Given the description of an element on the screen output the (x, y) to click on. 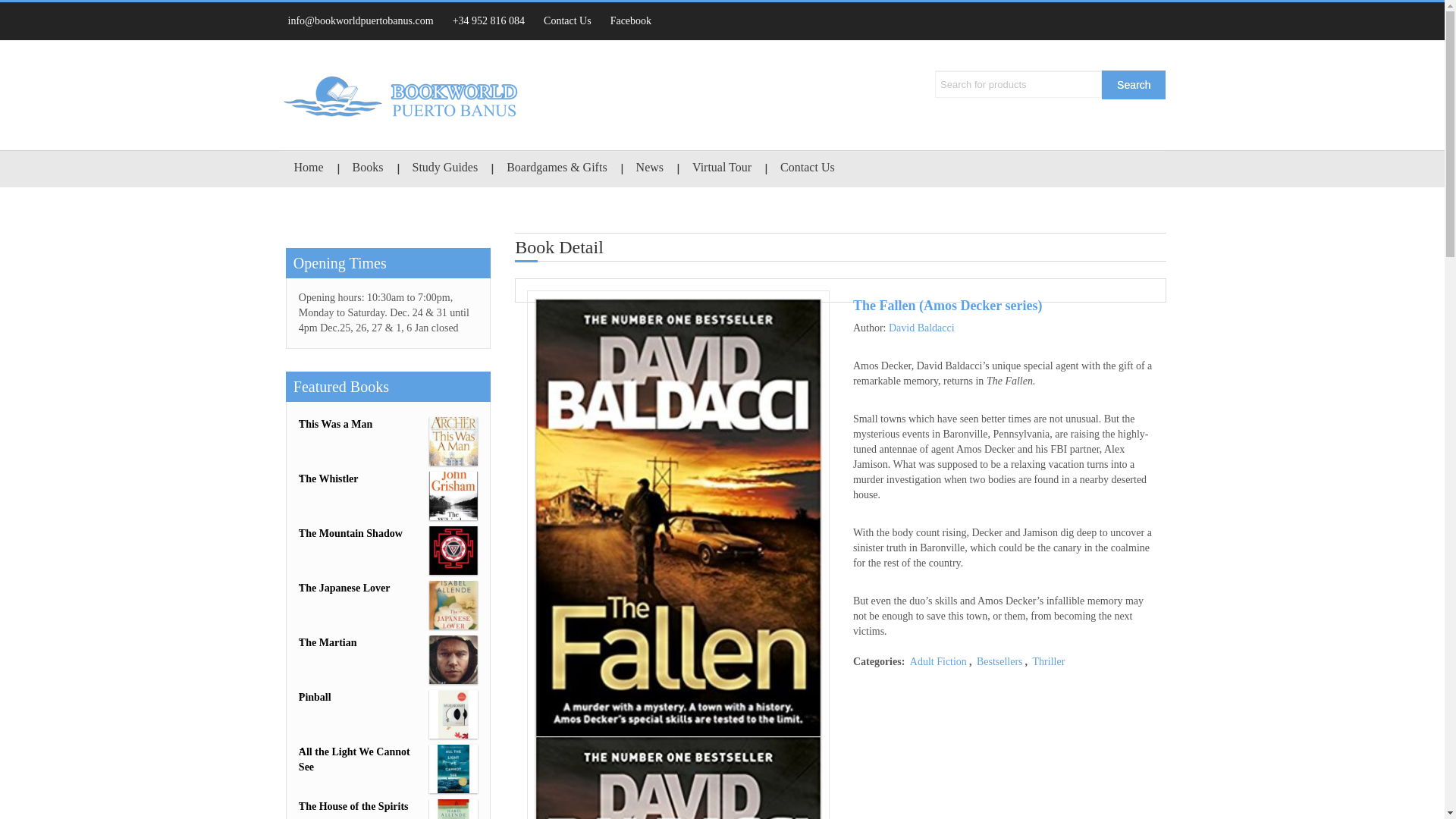
Facebook (631, 21)
The House of the Spirits (387, 806)
The Martian (387, 642)
Adult Fiction (938, 661)
Search (1134, 84)
Virtual Tour (721, 168)
The Japanese Lover (387, 588)
Books (368, 168)
Contact Us (566, 21)
The Mountain Shadow (387, 533)
